Given the description of an element on the screen output the (x, y) to click on. 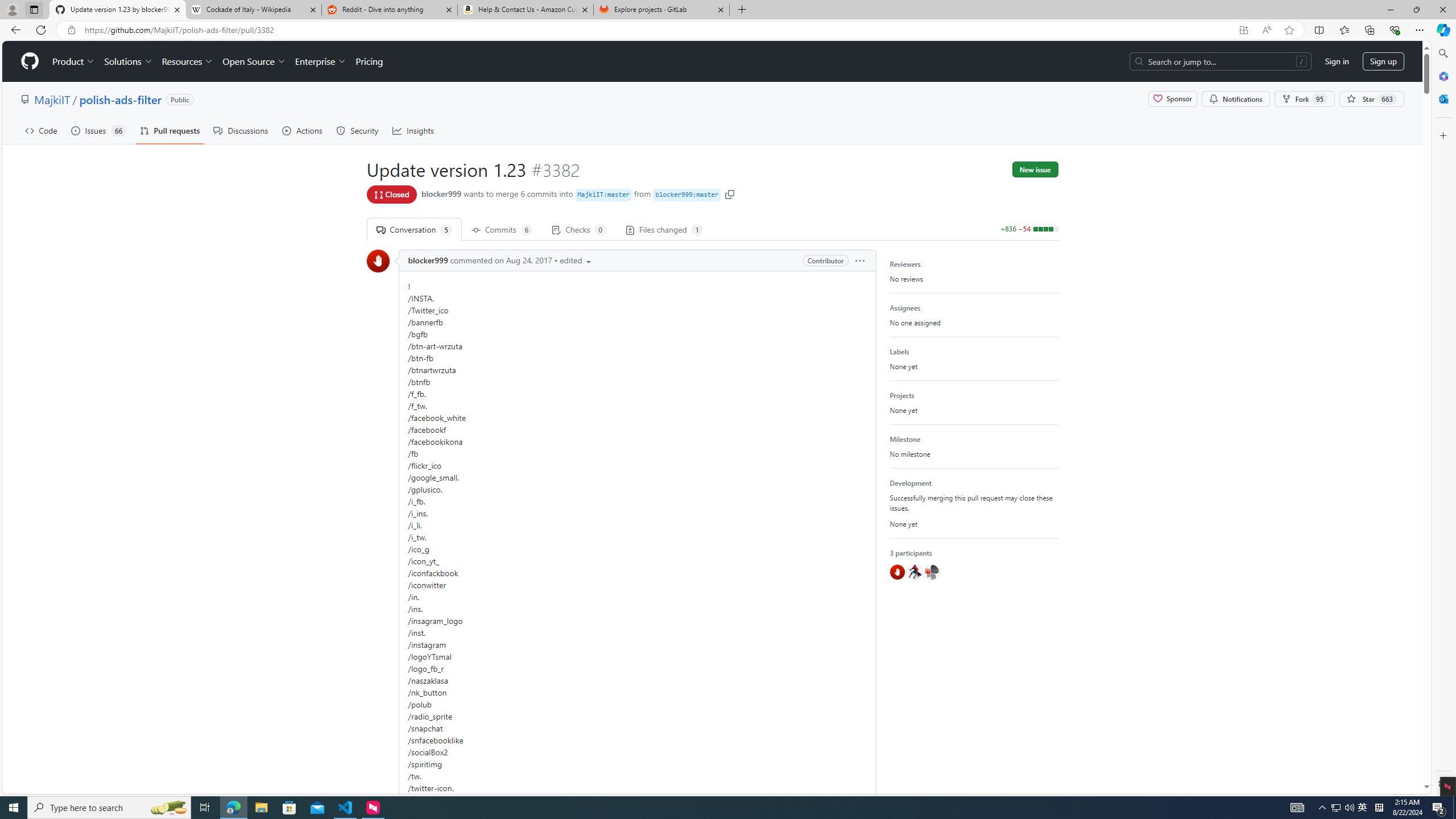
 Checks 0 (578, 228)
Fork 95 (1304, 98)
 Commits 6 (502, 228)
Resources (187, 60)
blocker999 : master (687, 195)
@blocker999 (896, 572)
@hawkeye116477 (914, 572)
